Given the description of an element on the screen output the (x, y) to click on. 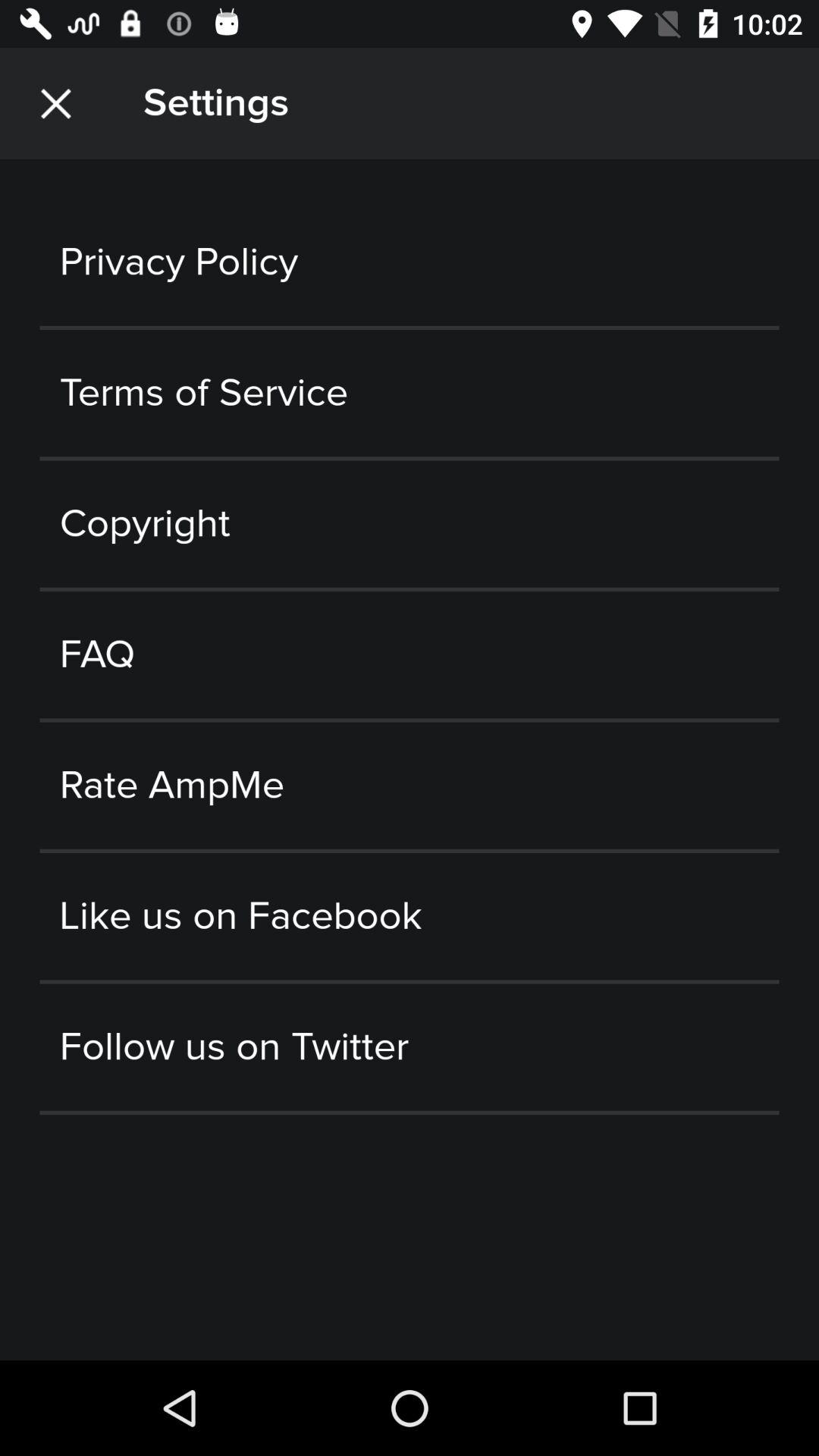
turn on item above the privacy policy (55, 103)
